Given the description of an element on the screen output the (x, y) to click on. 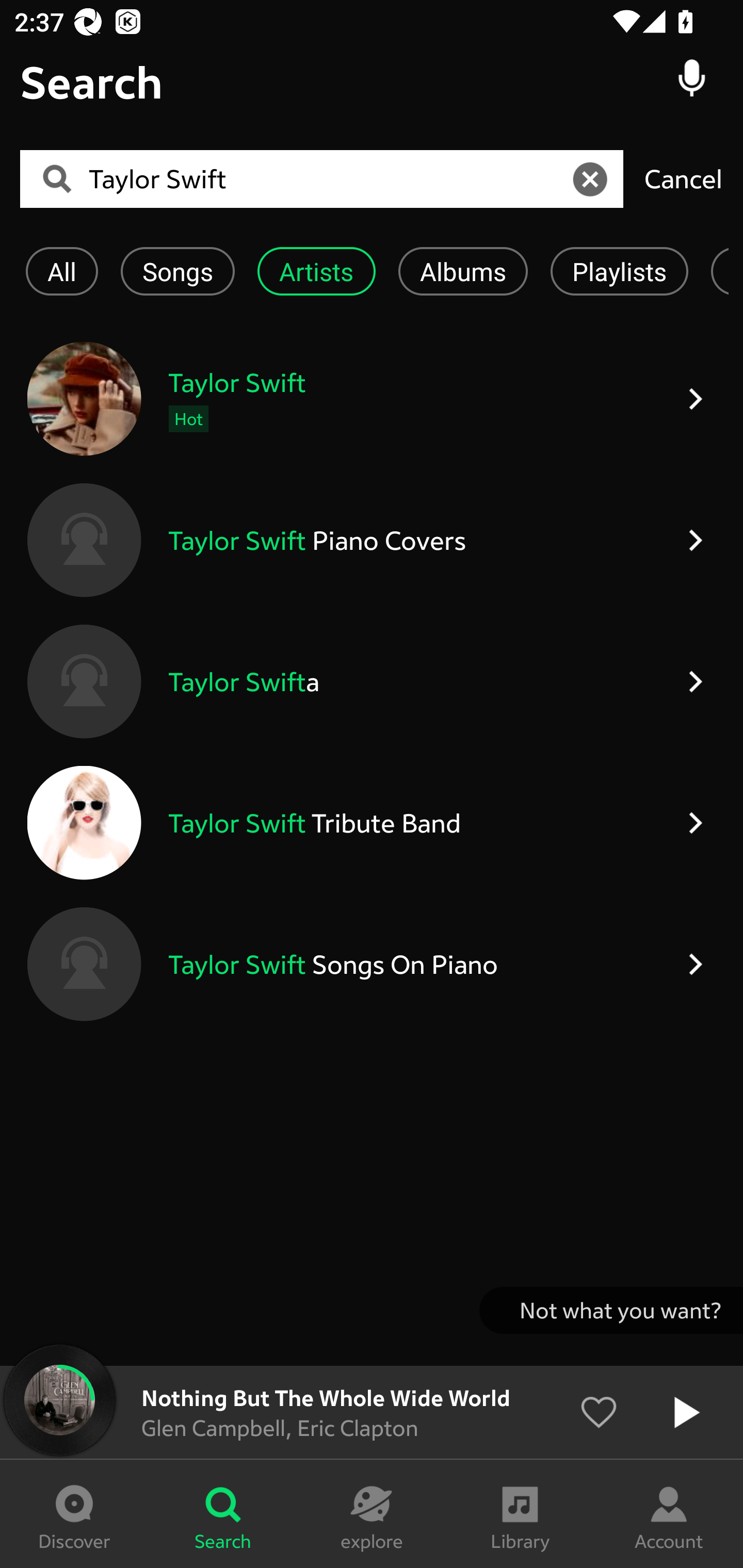
Cancel (683, 178)
Taylor Swift (327, 179)
All (61, 271)
Songs (177, 271)
Albums (463, 271)
Playlists (619, 271)
Taylor Swift Hot (371, 398)
Taylor Swift Piano Covers (371, 539)
Taylor Swifta (371, 681)
Taylor Swift Tribute Band (371, 822)
Taylor Swift Songs On Piano (371, 963)
Discover (74, 1513)
explore (371, 1513)
Library (519, 1513)
Account (668, 1513)
